Given the description of an element on the screen output the (x, y) to click on. 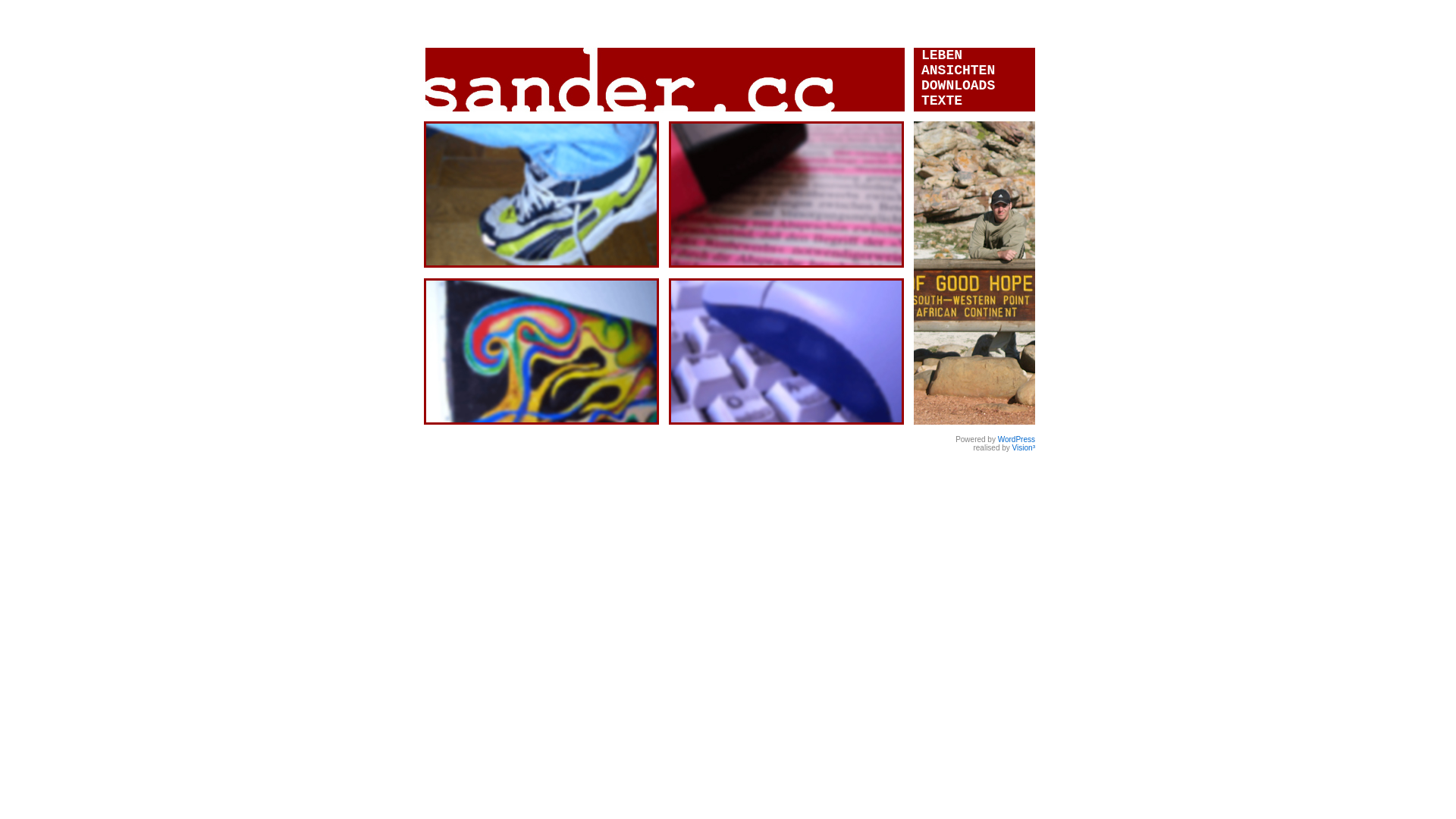
TEXTE Element type: text (941, 100)
texte Element type: hover (785, 194)
DOWNLOADS Element type: text (957, 85)
WordPress Element type: text (1016, 439)
LEBEN Element type: text (941, 54)
ANSICHTEN Element type: text (957, 70)
ansichten Element type: hover (540, 351)
downloads Element type: hover (785, 351)
leben Element type: hover (540, 194)
